Given the description of an element on the screen output the (x, y) to click on. 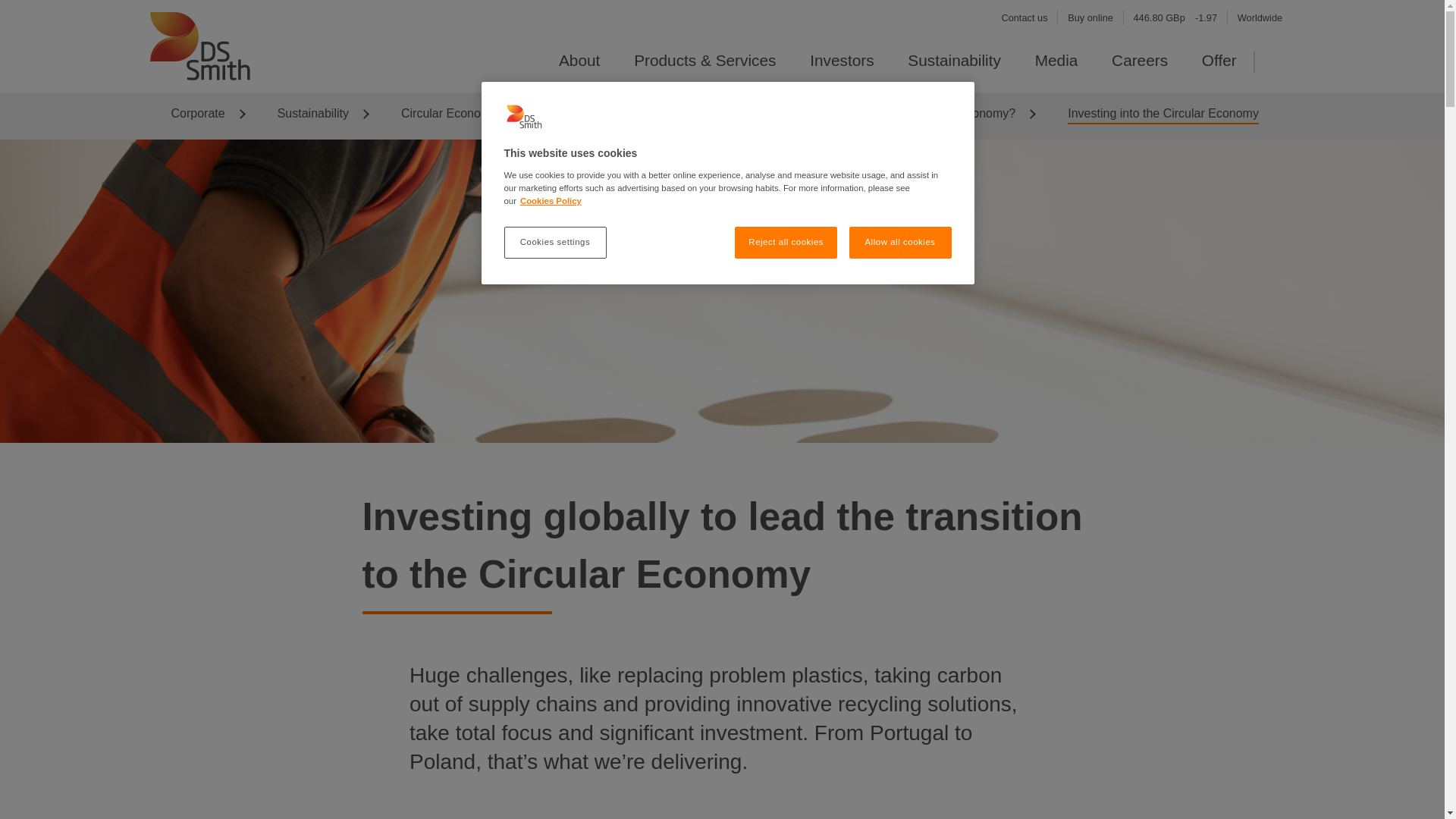
About (579, 59)
